Given the description of an element on the screen output the (x, y) to click on. 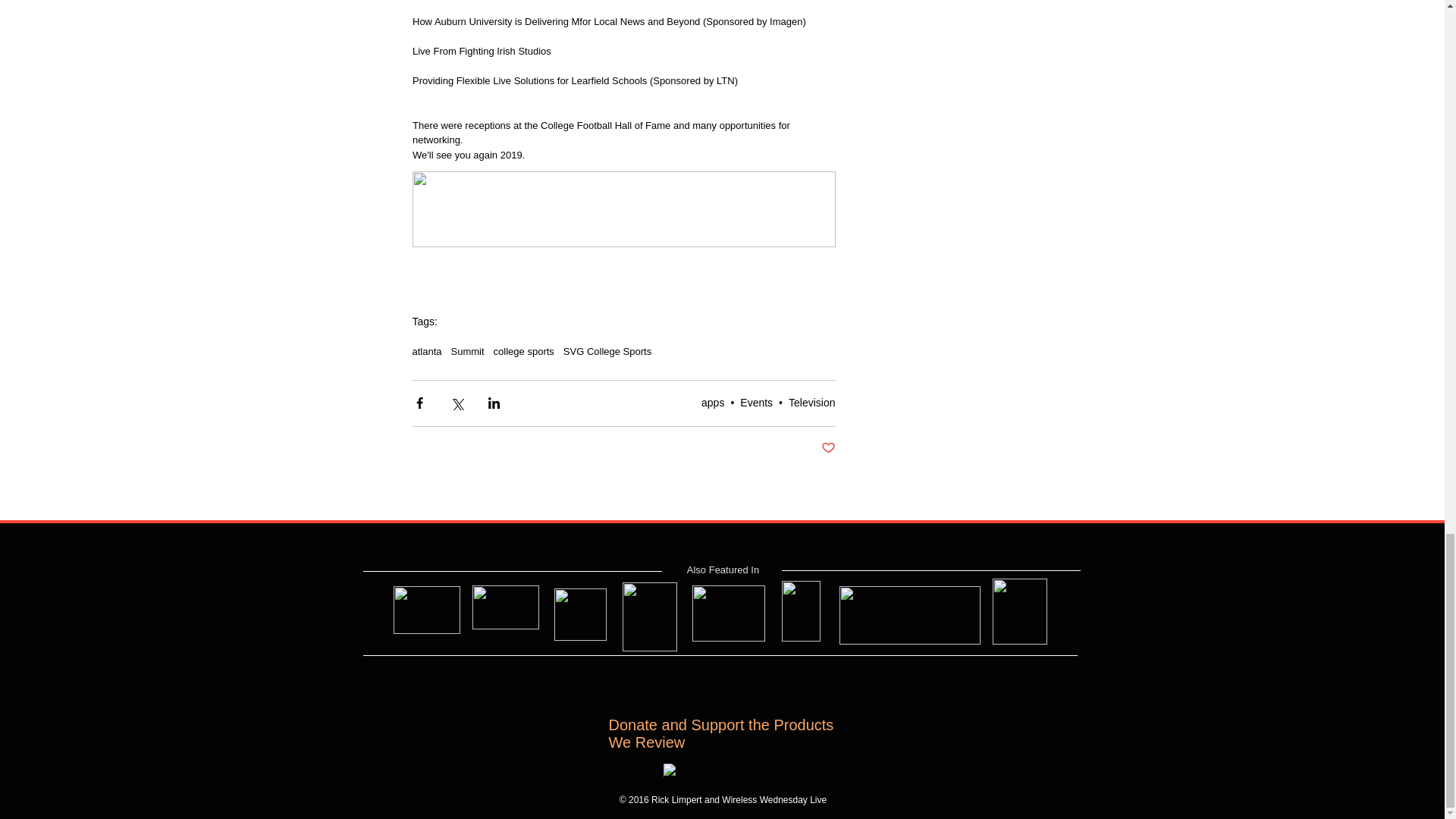
WWL13.jpg (579, 614)
Television (811, 402)
atlanta (427, 351)
WWL12.jpg (504, 607)
SVG College Sports (606, 351)
apps (712, 402)
Post not marked as liked (827, 448)
Summit (467, 351)
college sports (523, 351)
WWL15.jpg (727, 613)
WWL17.jpg (908, 615)
Events (756, 402)
sam crenshaw3.jpg (426, 609)
